Given the description of an element on the screen output the (x, y) to click on. 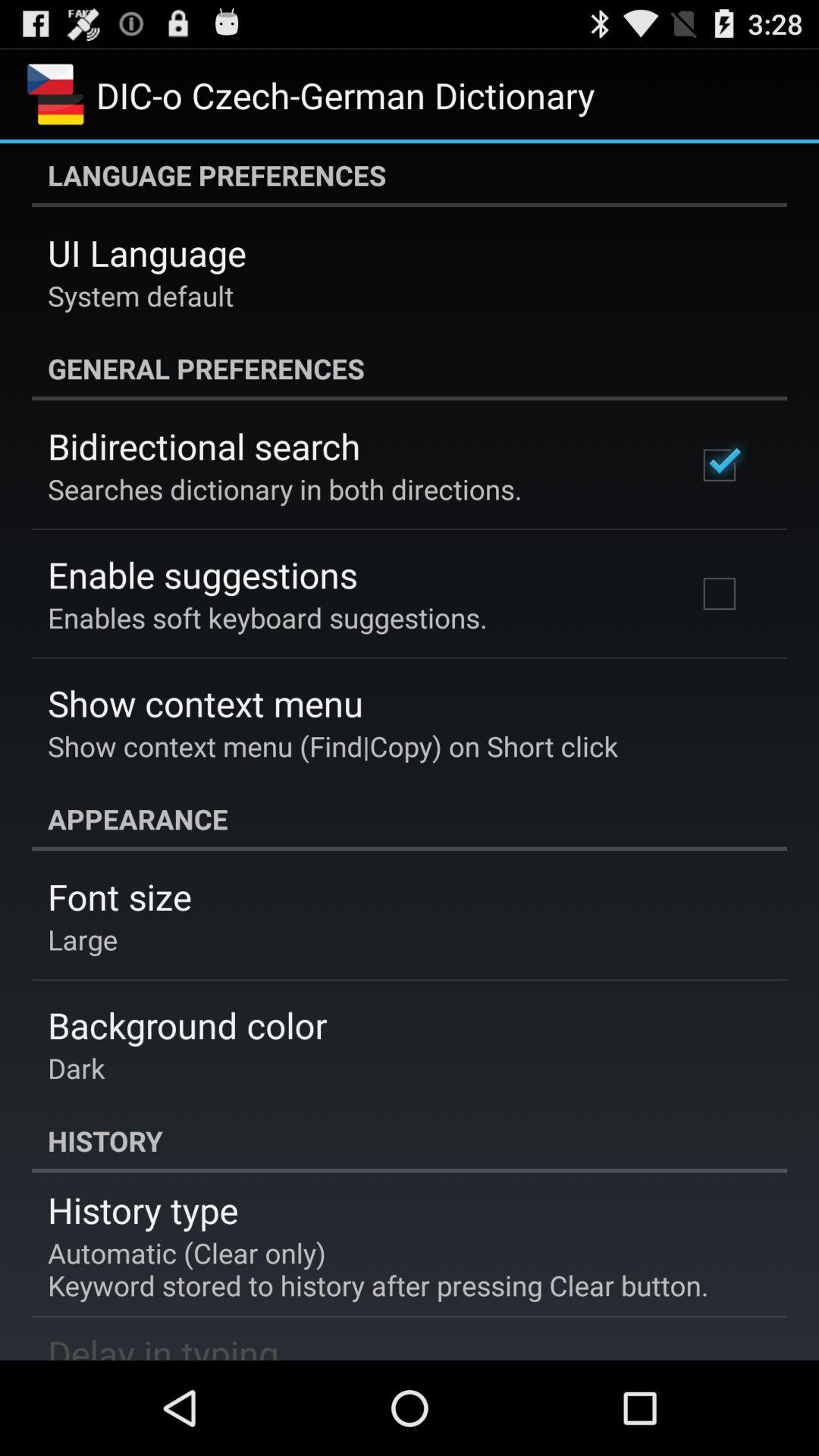
click the item above background color icon (82, 939)
